Given the description of an element on the screen output the (x, y) to click on. 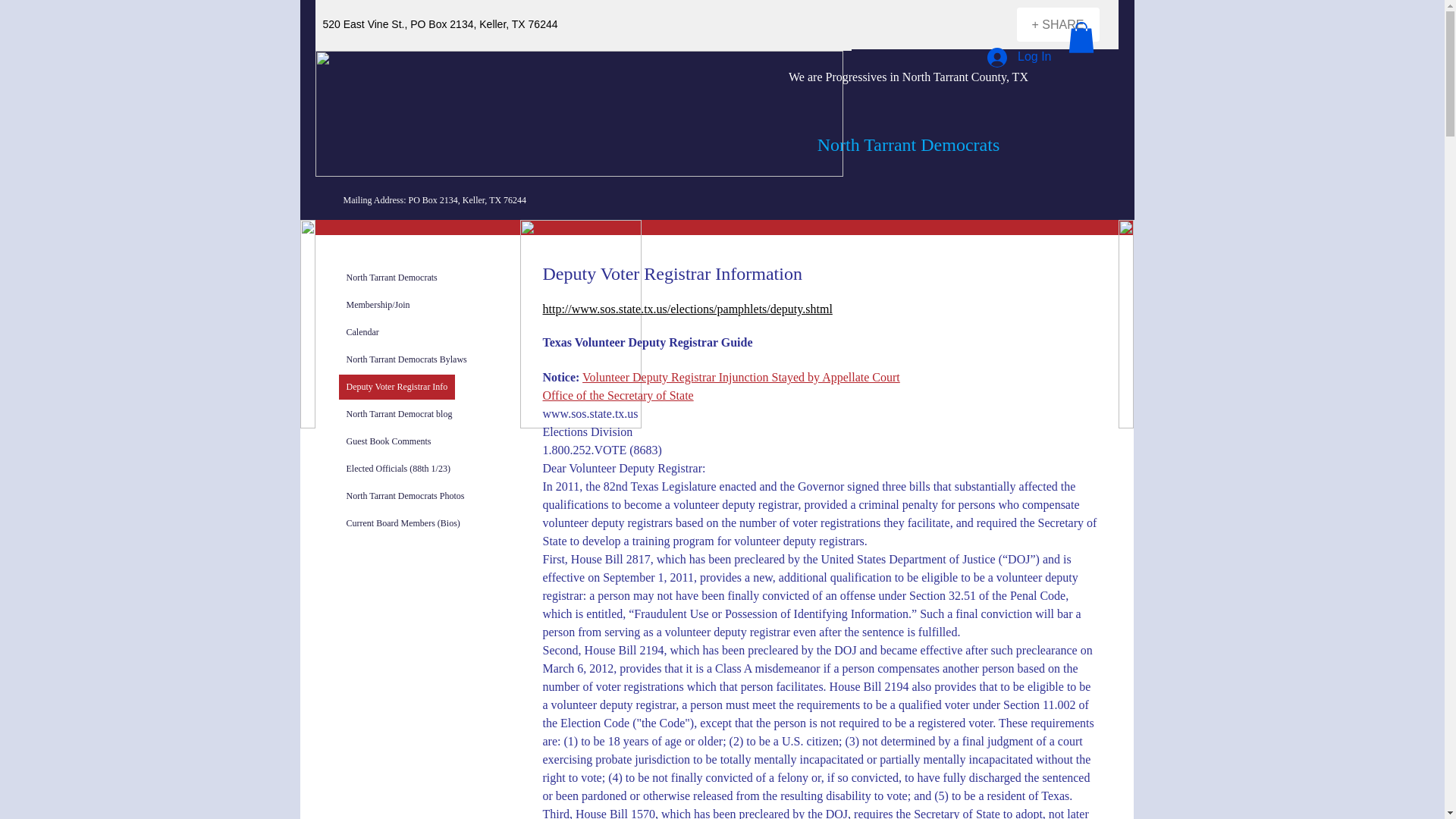
Deputy Voter Registrar Info (395, 386)
North Tarrant Democrats (390, 277)
Office of the Secretary of State (618, 397)
North Tarrant Democrat blog (398, 414)
Log In (1018, 57)
Guest Book Comments (387, 441)
North Tarrant Democrats Photos (404, 496)
North Tarrant Democrats Bylaws (405, 359)
www.sos.state.tx.us (591, 415)
Calendar (361, 332)
